Given the description of an element on the screen output the (x, y) to click on. 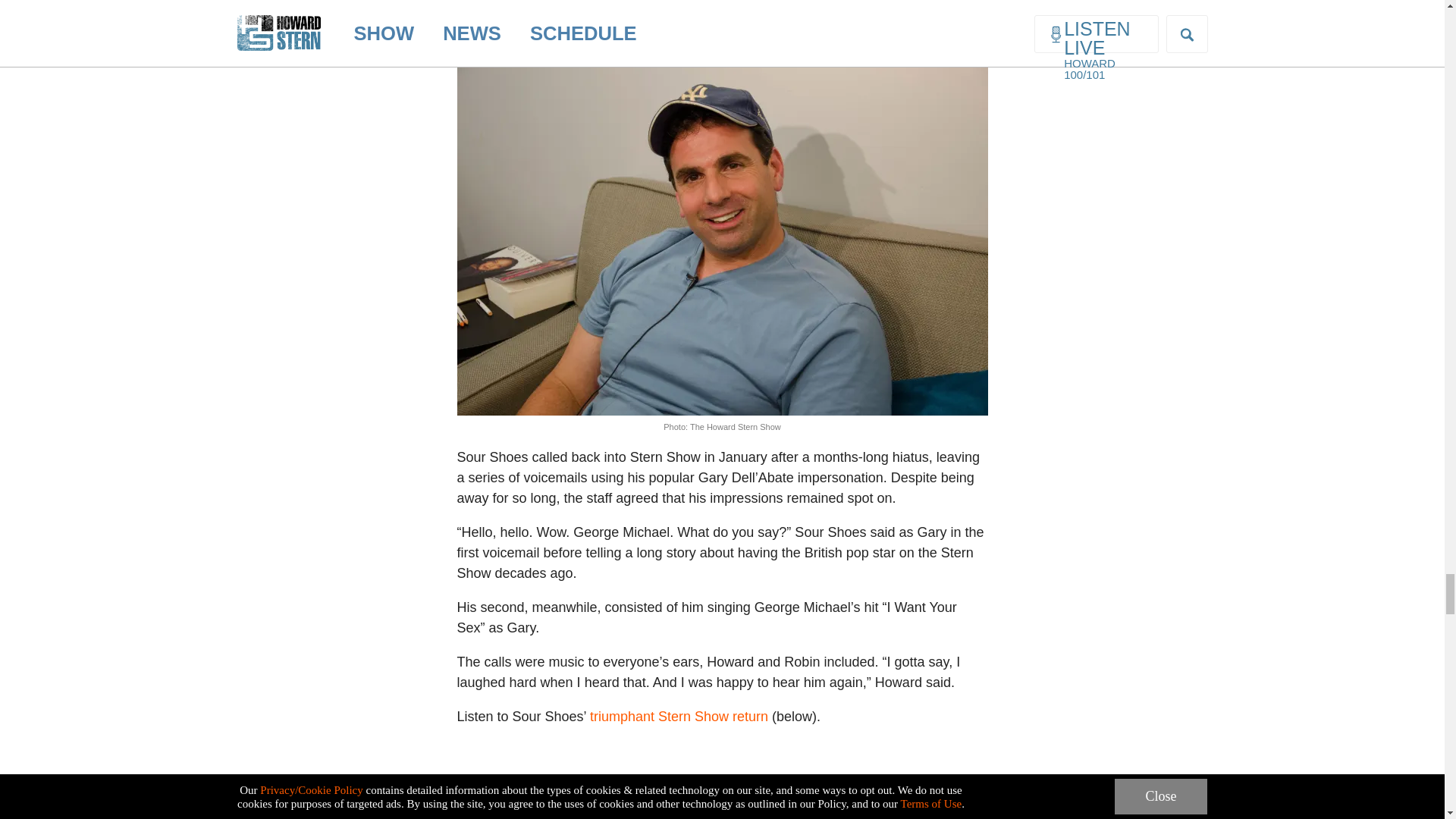
triumphant Stern Show return (678, 716)
